Given the description of an element on the screen output the (x, y) to click on. 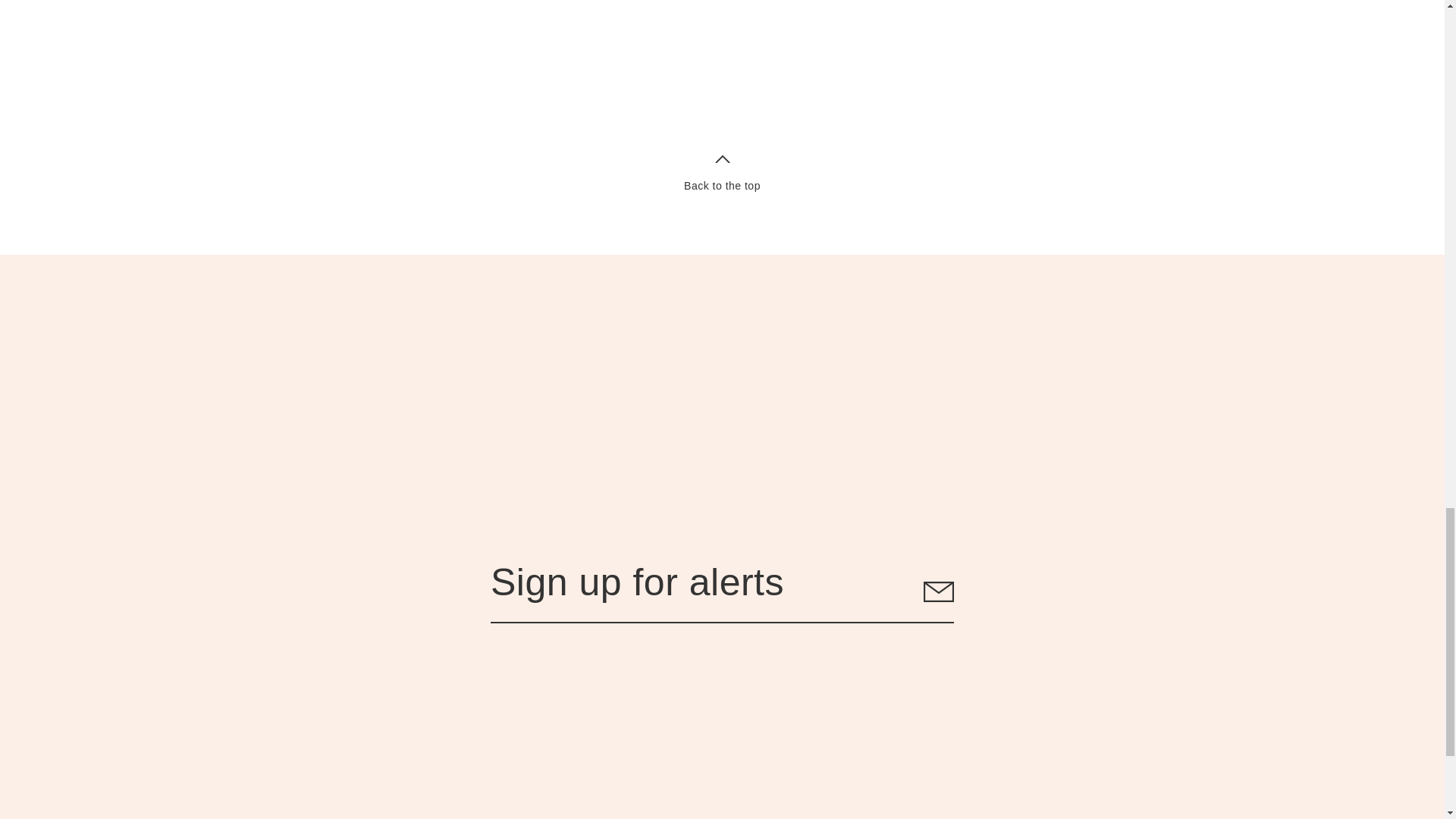
Sign up for alerts (721, 592)
